Given the description of an element on the screen output the (x, y) to click on. 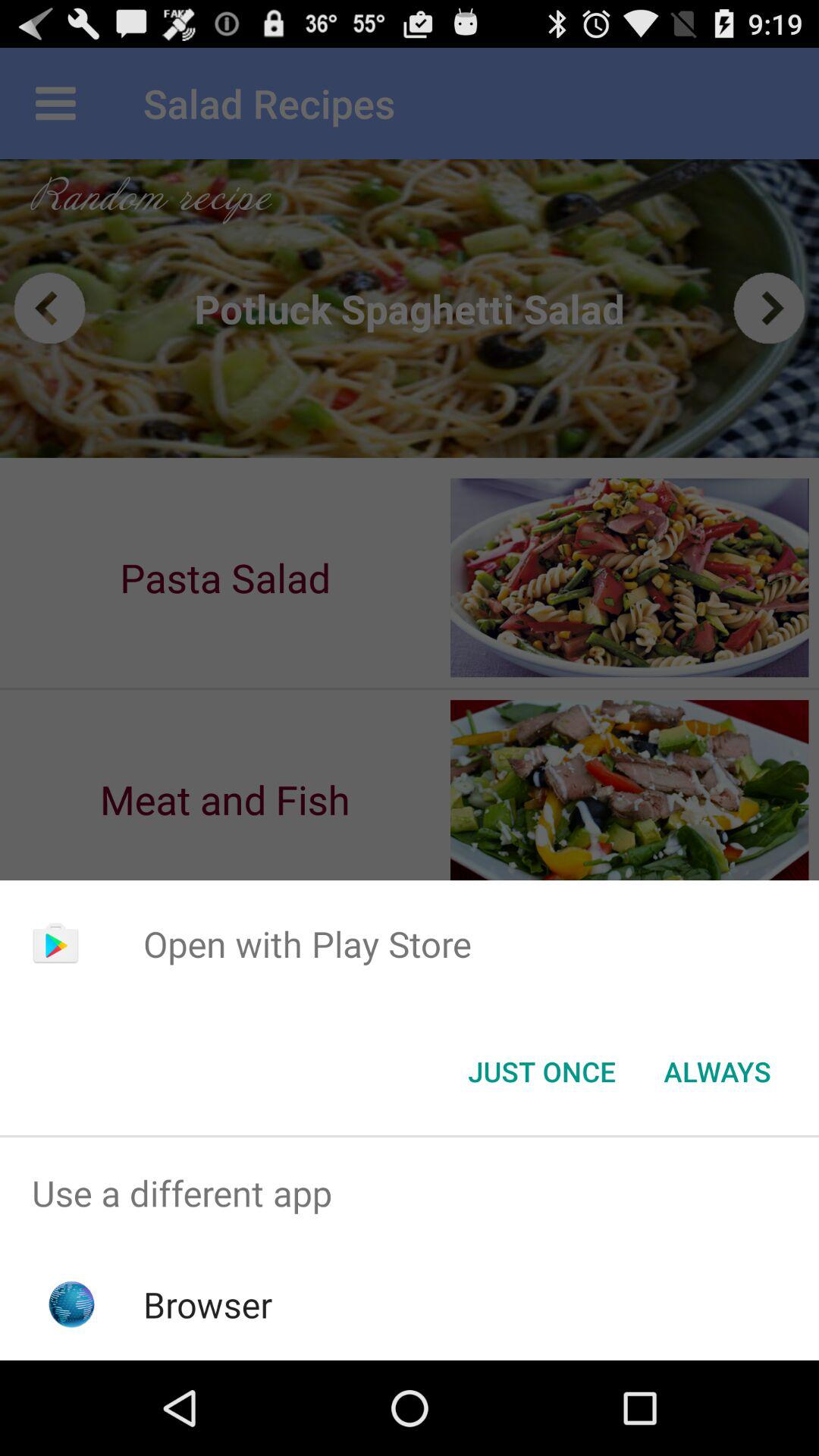
flip until use a different (409, 1192)
